Given the description of an element on the screen output the (x, y) to click on. 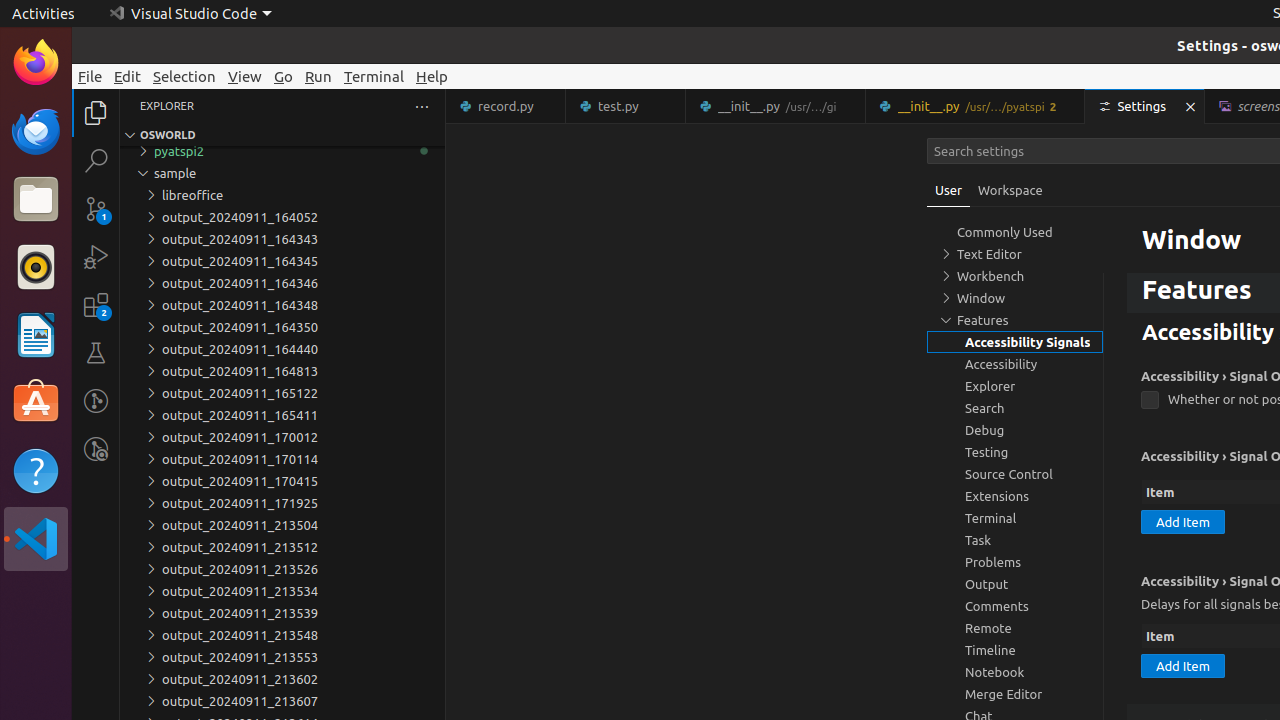
Workbench, group Element type: tree-item (1015, 276)
output_20240911_164343 Element type: tree-item (282, 239)
Testing, group Element type: tree-item (1015, 452)
Extensions (Ctrl+Shift+X) - 2 require restart Extensions (Ctrl+Shift+X) - 2 require restart Element type: page-tab (96, 305)
output_20240911_213526 Element type: tree-item (282, 569)
